Given the description of an element on the screen output the (x, y) to click on. 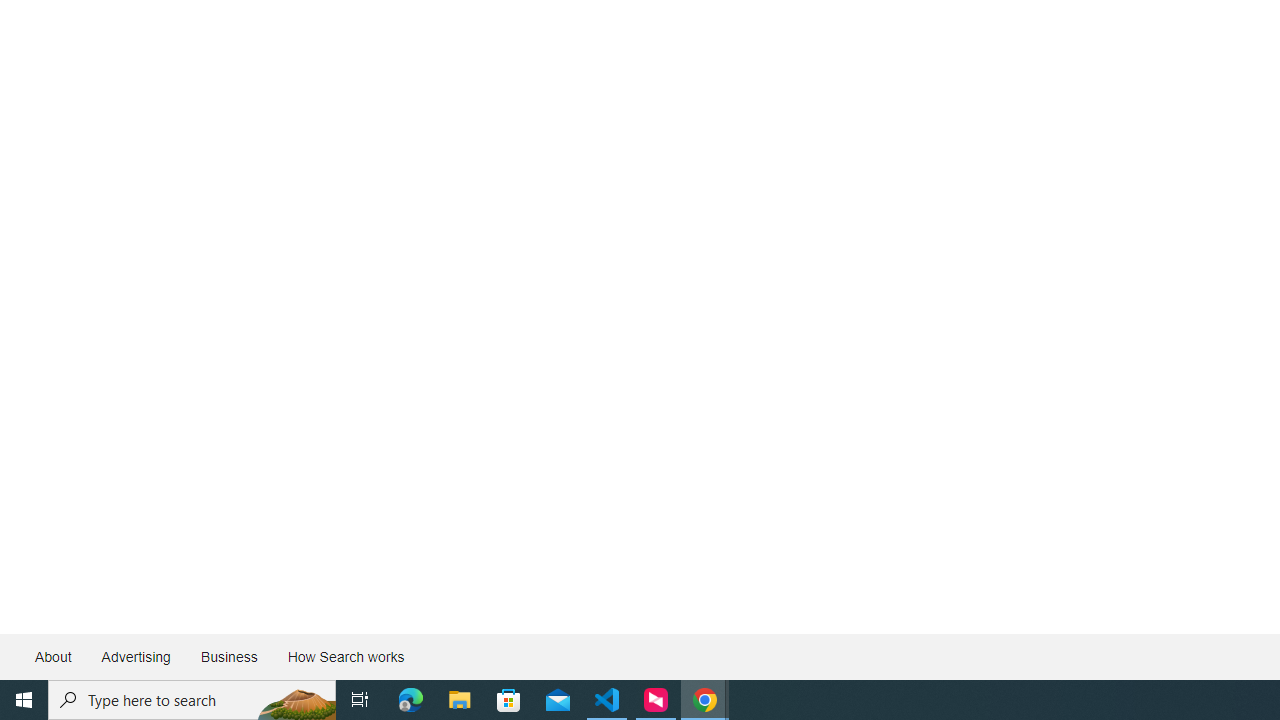
Business (228, 656)
Advertising (135, 656)
How Search works (345, 656)
About (53, 656)
